Given the description of an element on the screen output the (x, y) to click on. 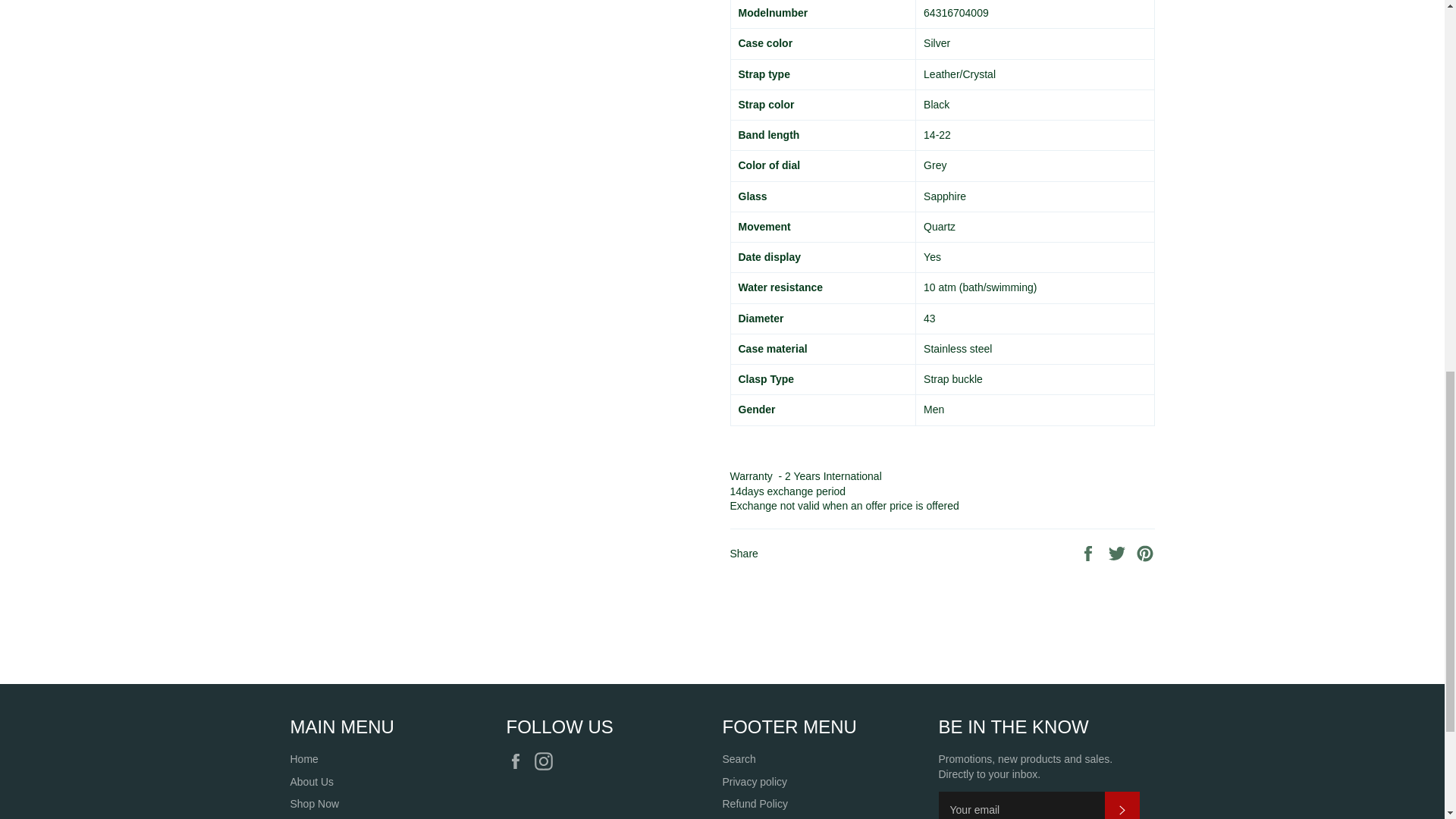
Pin on Pinterest (1144, 552)
Tweet on Twitter (1118, 552)
Share on Facebook (1089, 552)
